Given the description of an element on the screen output the (x, y) to click on. 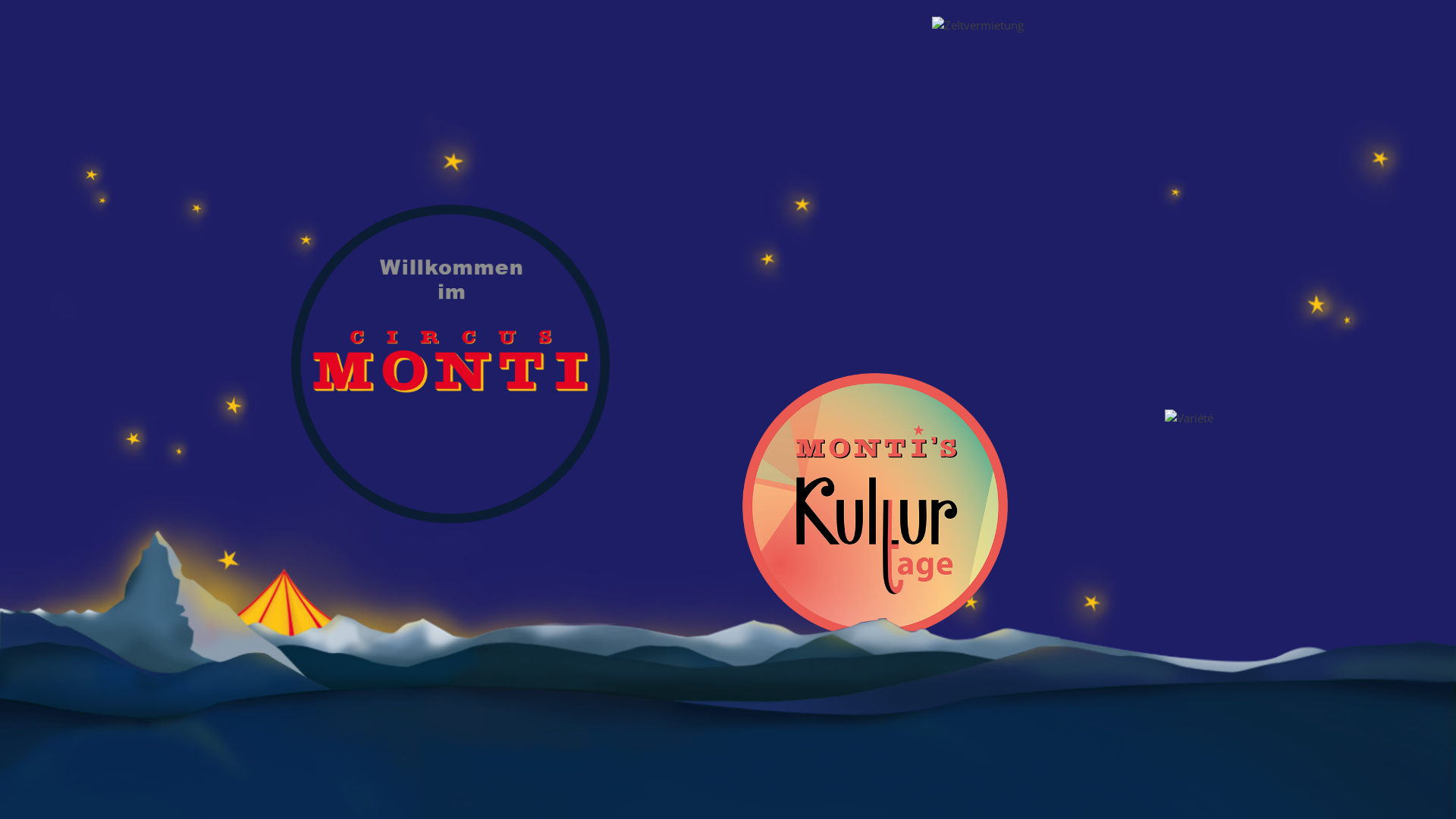
Kulturtage Element type: hover (874, 505)
Zeltvermietung Element type: hover (1064, 149)
Circus Monti Element type: hover (450, 363)
